Given the description of an element on the screen output the (x, y) to click on. 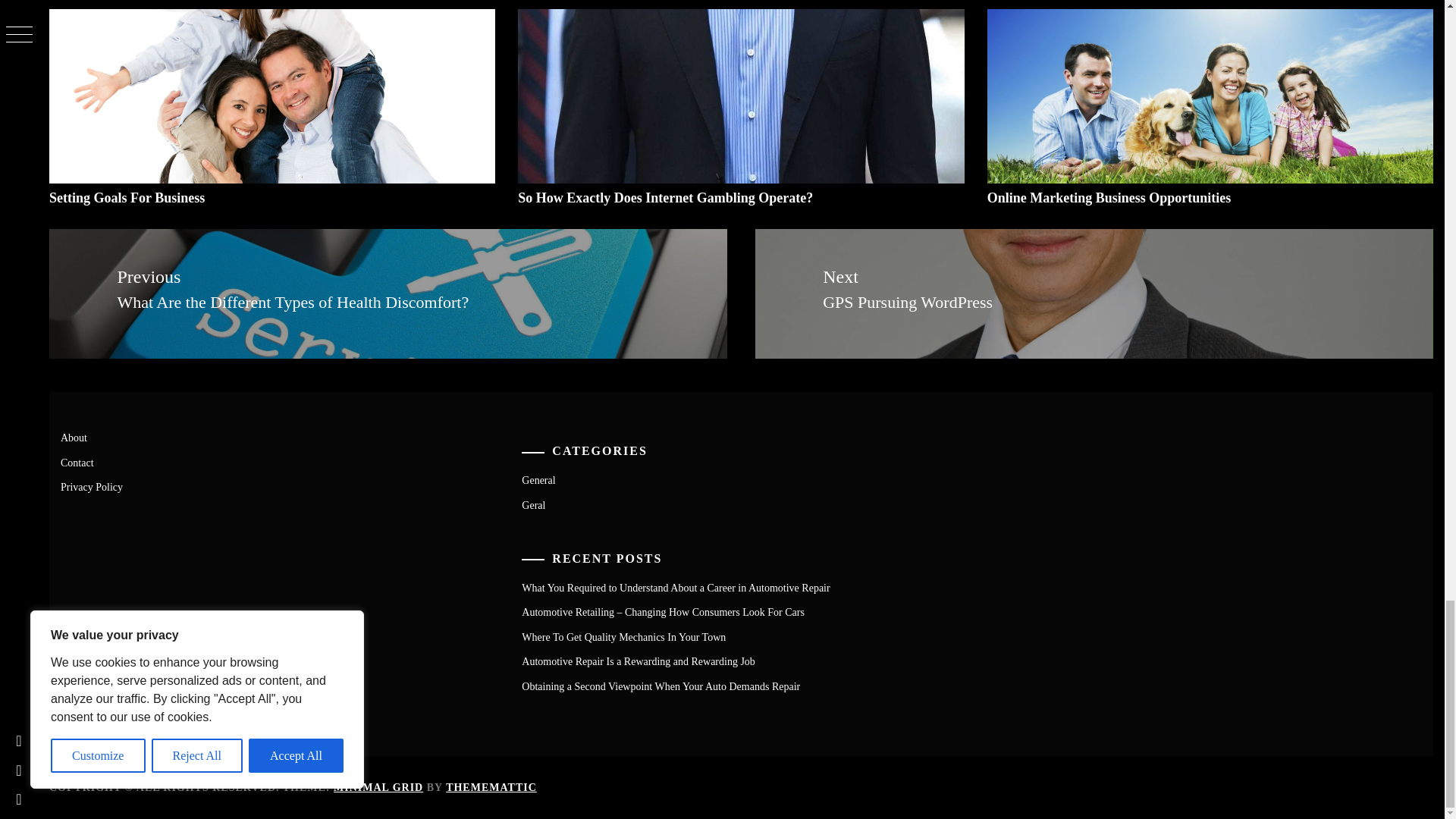
Setting Goals For Business (127, 197)
So How Exactly Does Internet Gambling Operate? (665, 197)
